Given the description of an element on the screen output the (x, y) to click on. 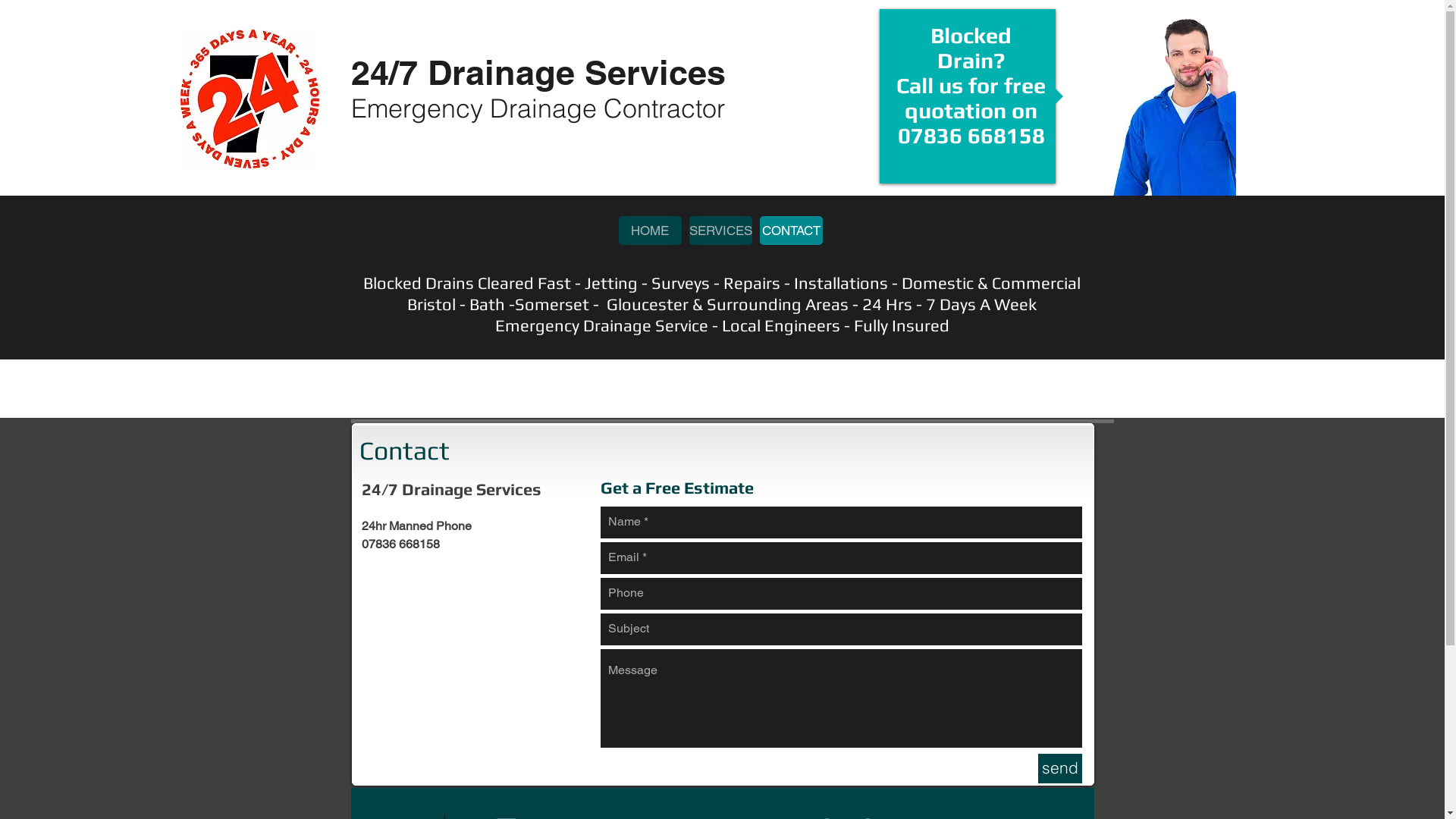
CONTACT Element type: text (790, 230)
send Element type: text (1059, 768)
SERVICES Element type: text (719, 230)
HOME Element type: text (649, 230)
